Given the description of an element on the screen output the (x, y) to click on. 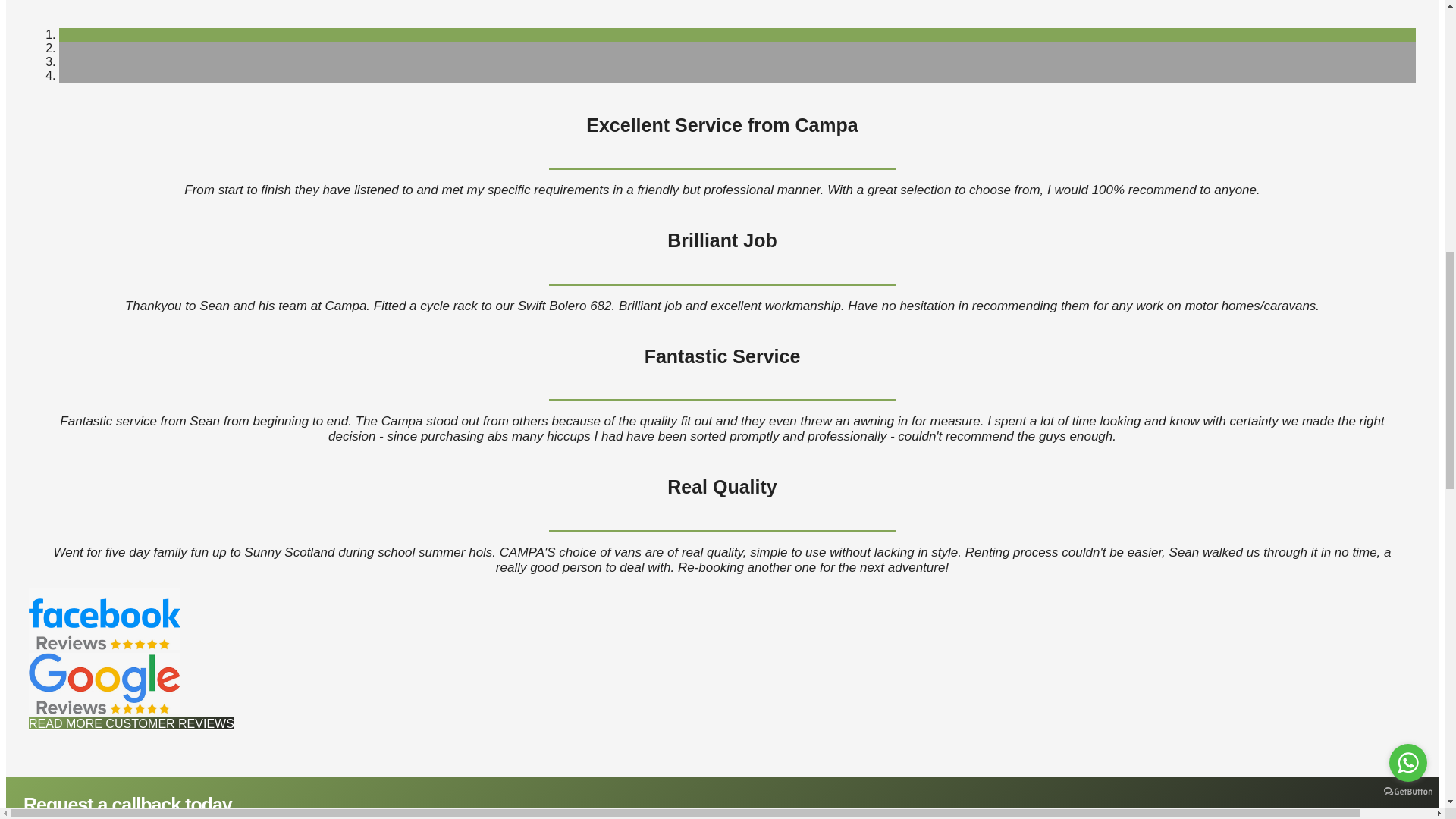
READ MORE CUSTOMER REVIEWS (131, 723)
